Given the description of an element on the screen output the (x, y) to click on. 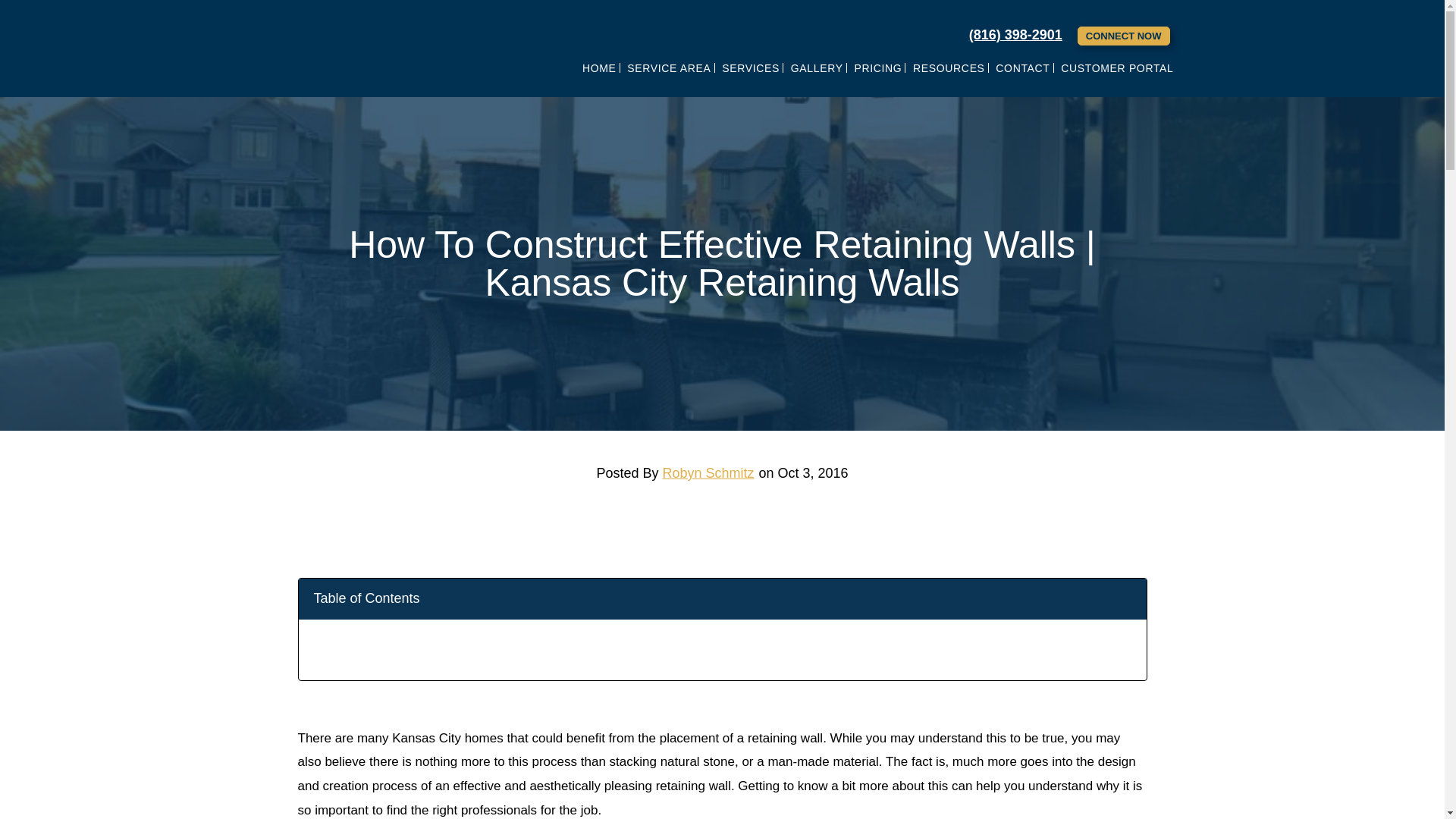
SERVICE AREA (668, 67)
CONNECT NOW (1123, 35)
HOME (599, 67)
SERVICES (750, 67)
